Given the description of an element on the screen output the (x, y) to click on. 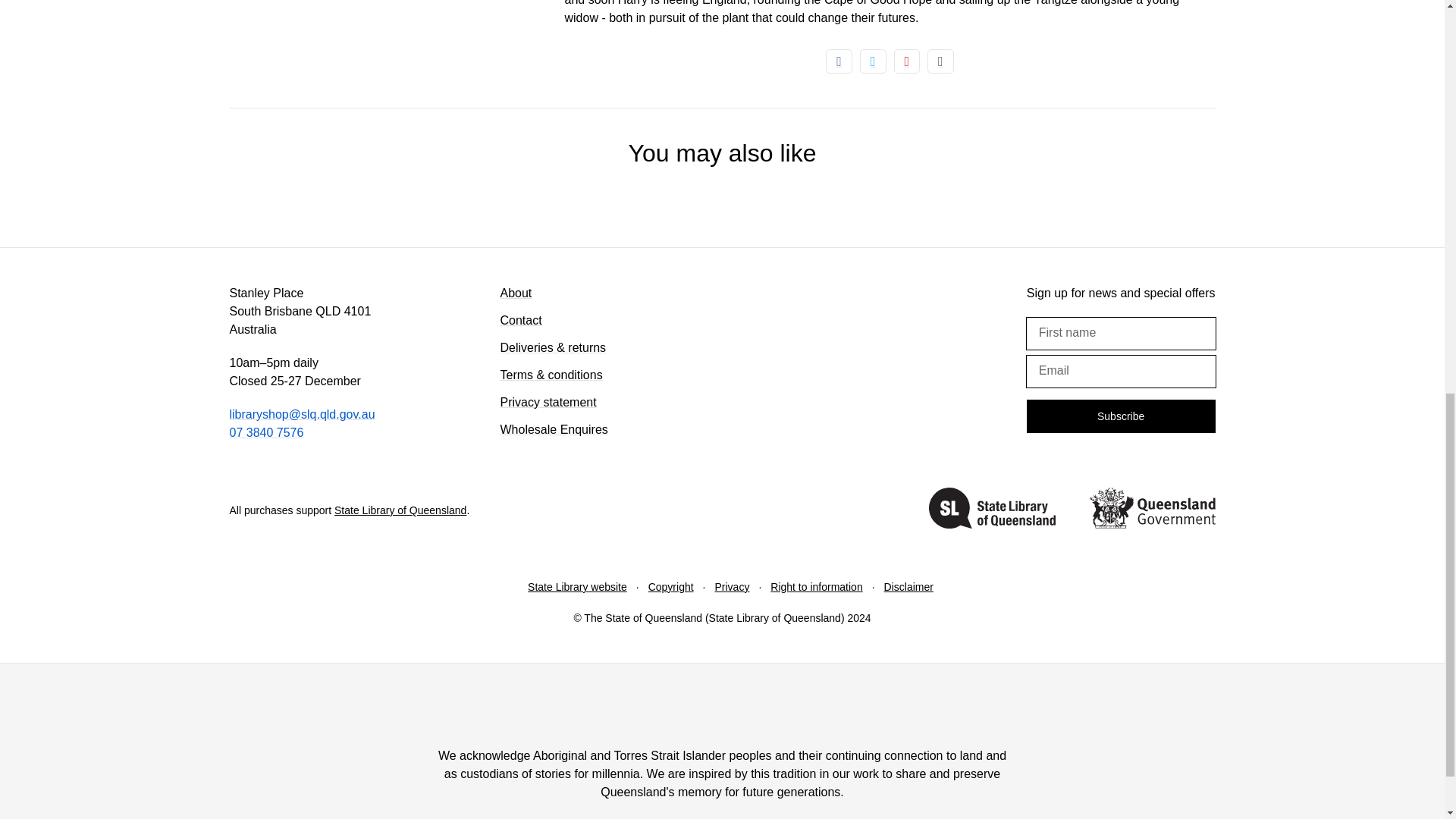
Go to Queensland State Library homepage (992, 510)
Go to Queensland Government homepage (1151, 510)
tel:07 3840 7576 (265, 431)
